Given the description of an element on the screen output the (x, y) to click on. 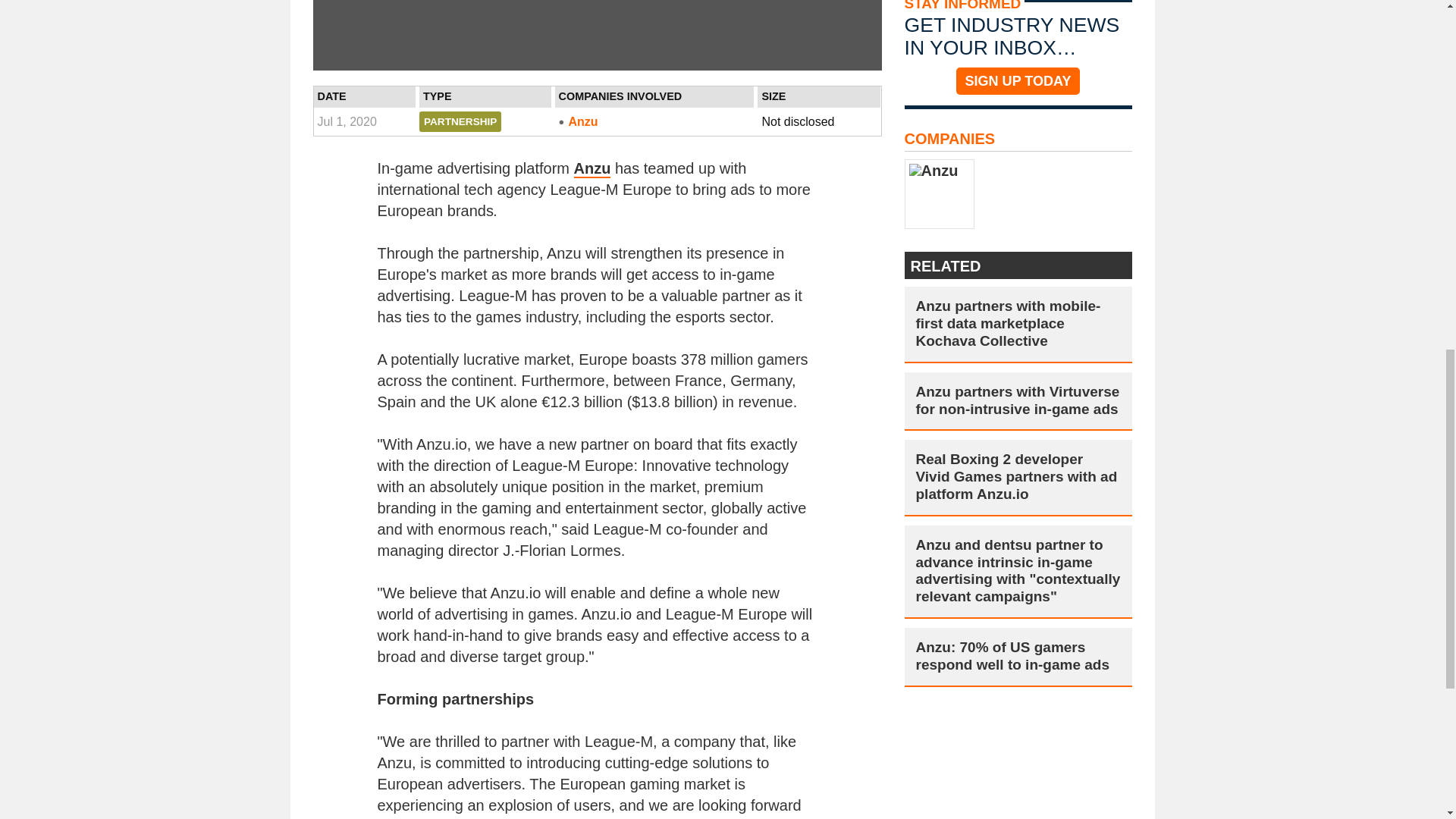
Anzu partners with Virtuverse for non-intrusive in-game ads (1017, 400)
Anzu (592, 168)
Anzu (655, 121)
